Given the description of an element on the screen output the (x, y) to click on. 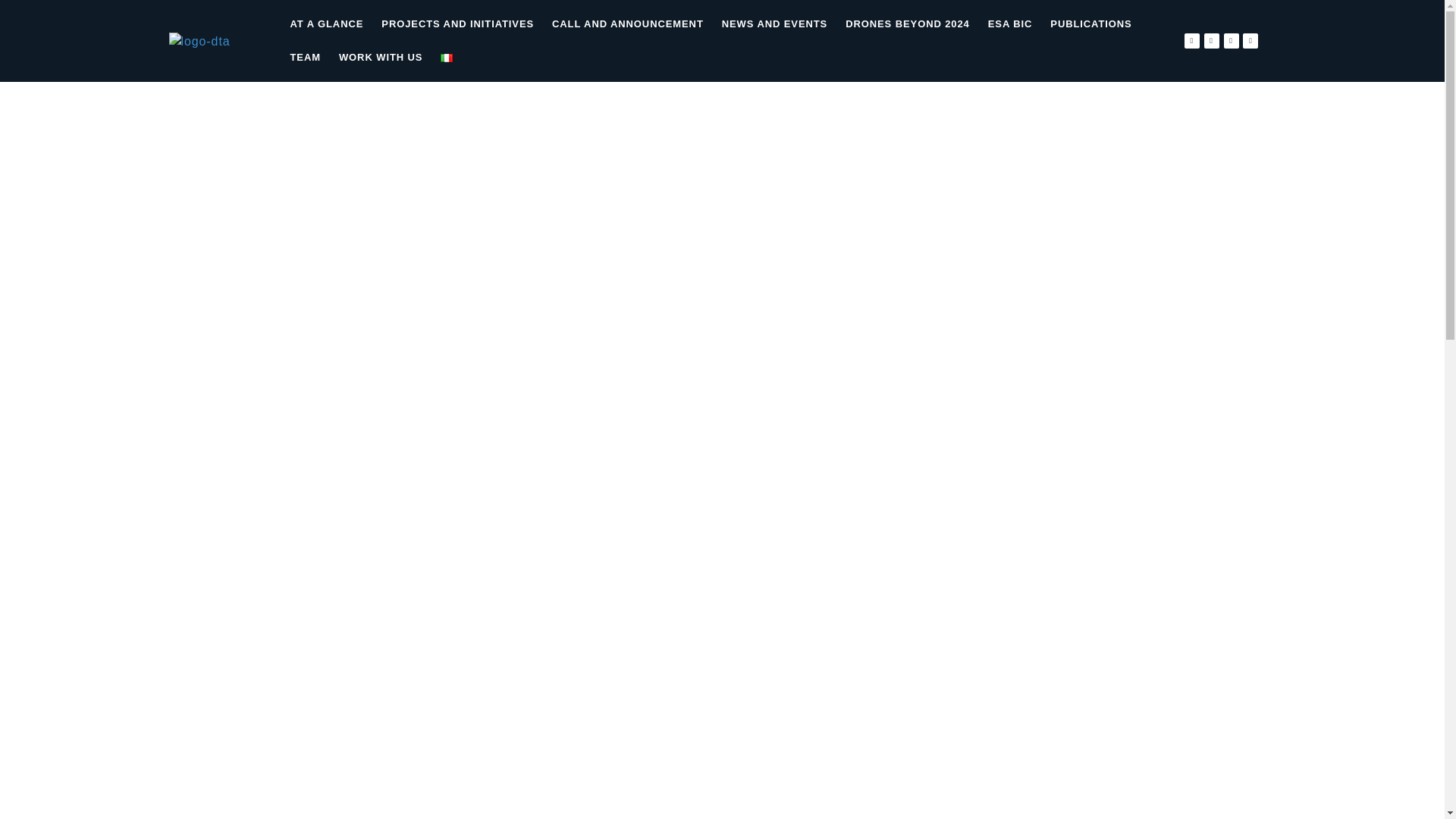
NEWS AND EVENTS (774, 23)
logo-dta (199, 41)
AT A GLANCE (326, 23)
CALL AND ANNOUNCEMENT (628, 23)
PUBLICATIONS (1090, 23)
TEAM (305, 57)
WORK WITH US (380, 57)
DRONES BEYOND 2024 (906, 23)
PROJECTS AND INITIATIVES (457, 23)
ESA BIC (1010, 23)
